Given the description of an element on the screen output the (x, y) to click on. 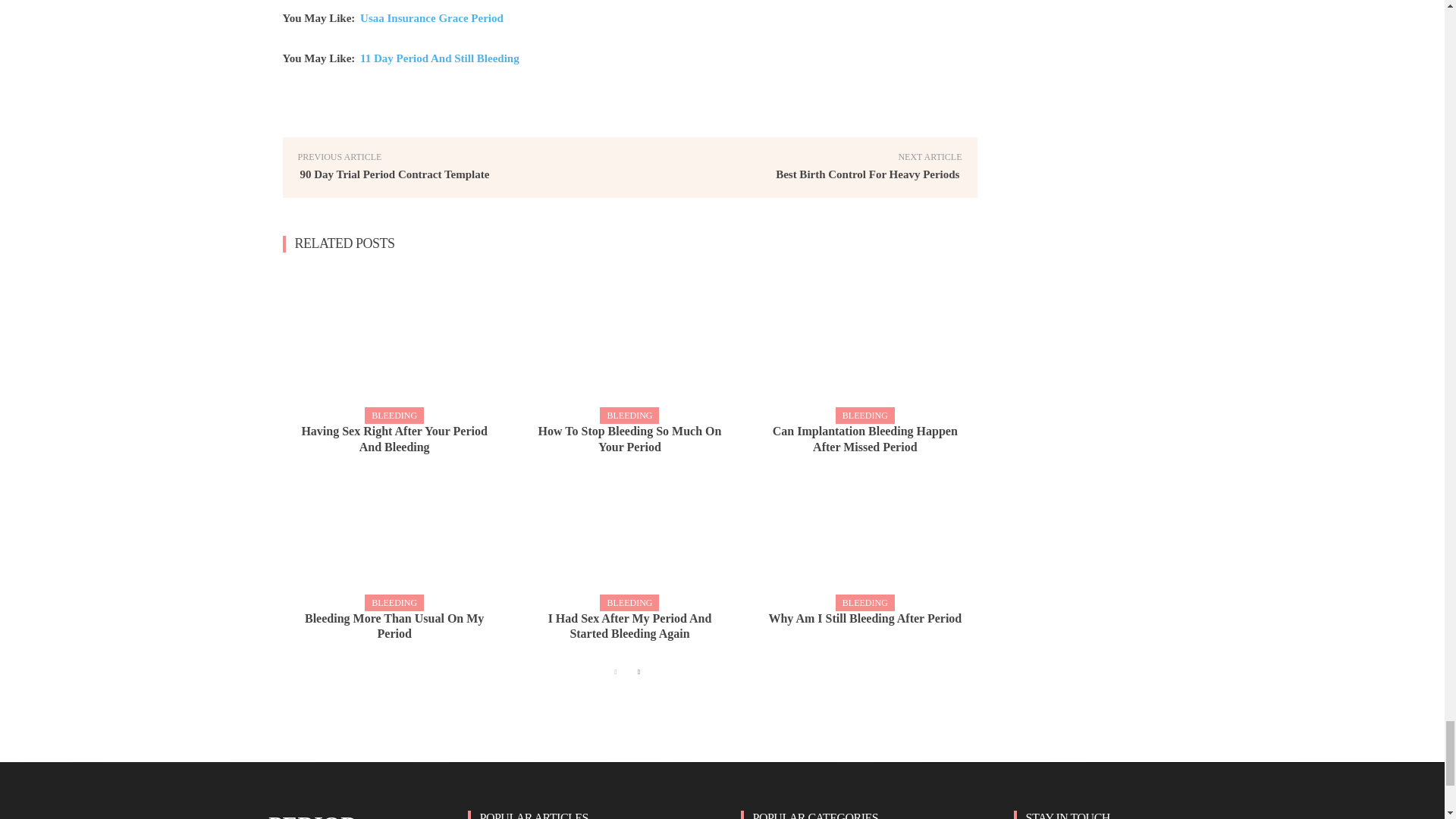
Having Sex Right After Your Period And Bleeding (393, 344)
Having Sex Right After Your Period And Bleeding (394, 439)
